Given the description of an element on the screen output the (x, y) to click on. 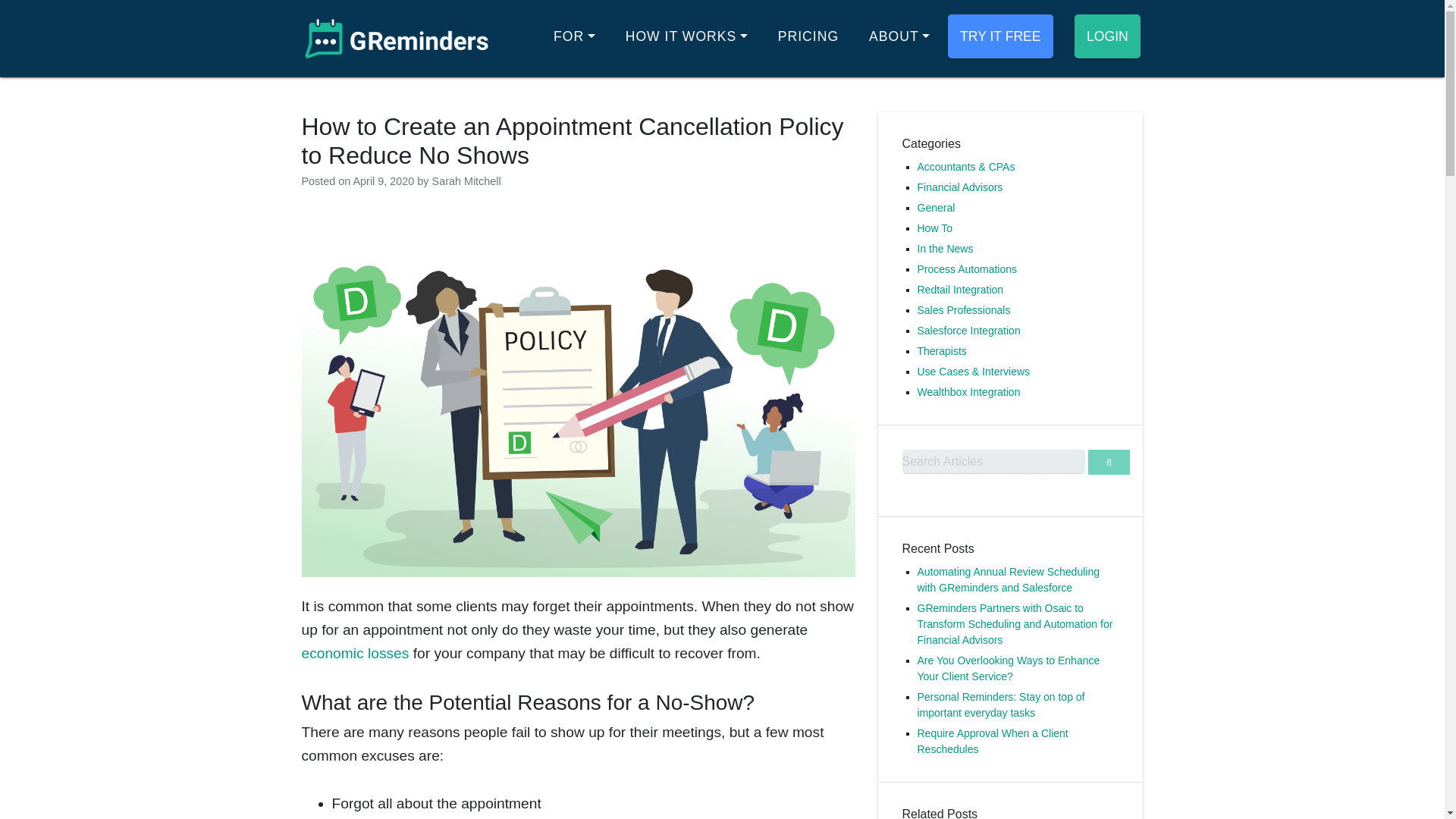
FOR (574, 36)
TRY IT FREE (999, 36)
HOW IT WORKS (686, 36)
HOW IT WORKS (686, 36)
economic losses (355, 652)
April 9, 2020 (383, 181)
FOR (574, 36)
PRICING (807, 36)
PRICING (807, 36)
LOGIN (1107, 36)
ABOUT (899, 36)
ABOUT (899, 36)
Sarah Mitchell (466, 181)
